Given the description of an element on the screen output the (x, y) to click on. 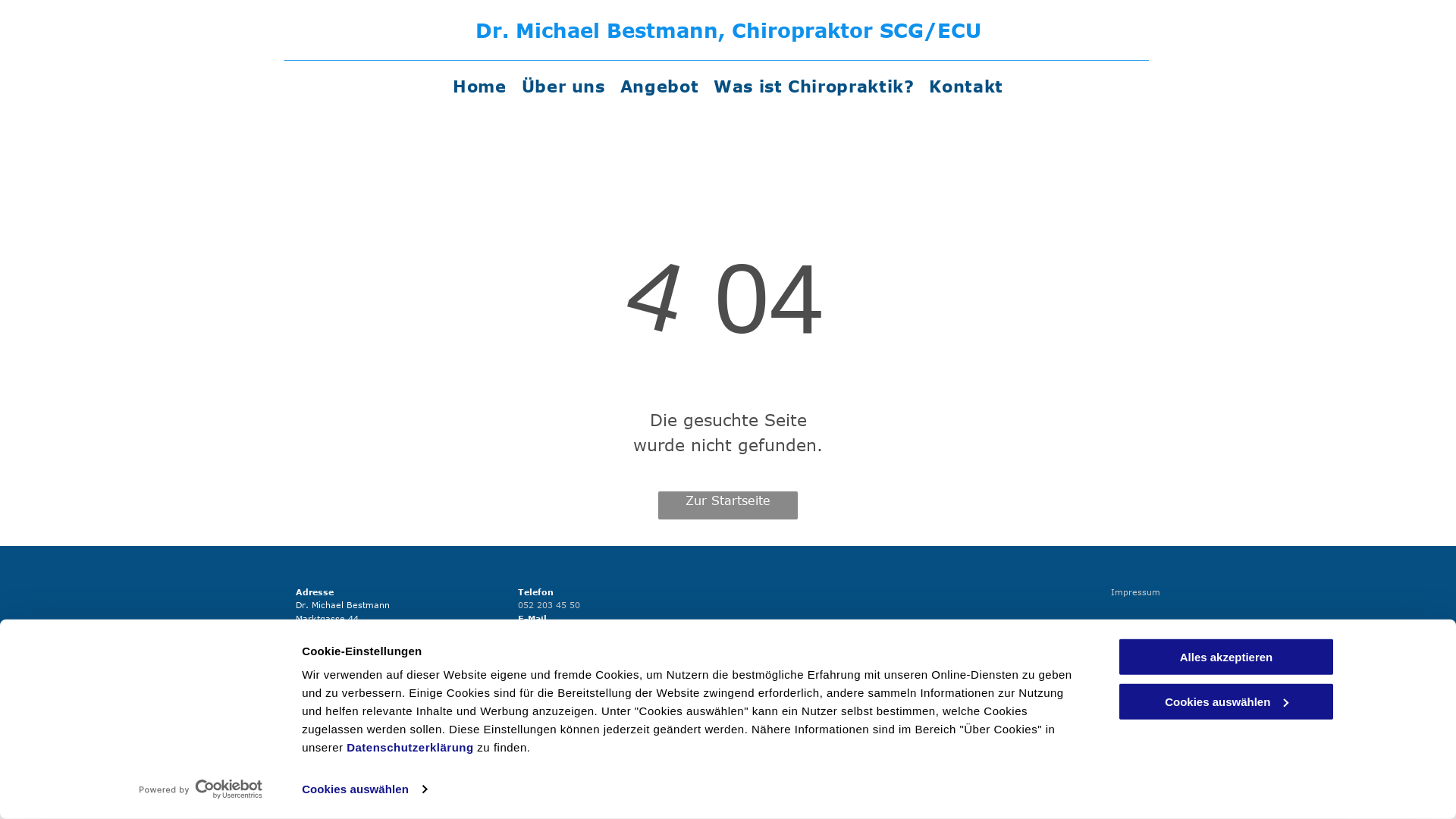
Dr. Michael Bestmann Element type: text (595, 29)
chirobestmann@bluewin.ch Element type: text (575, 632)
Angebot Element type: text (659, 85)
Zur Startseite Element type: text (727, 505)
052 203 45 50 Element type: text (548, 604)
Alles akzeptieren Element type: text (1225, 656)
Impressum Element type: text (1135, 591)
Home Element type: text (479, 85)
Kontakt Element type: text (965, 85)
Was ist Chiropraktik? Element type: text (813, 85)
